Given the description of an element on the screen output the (x, y) to click on. 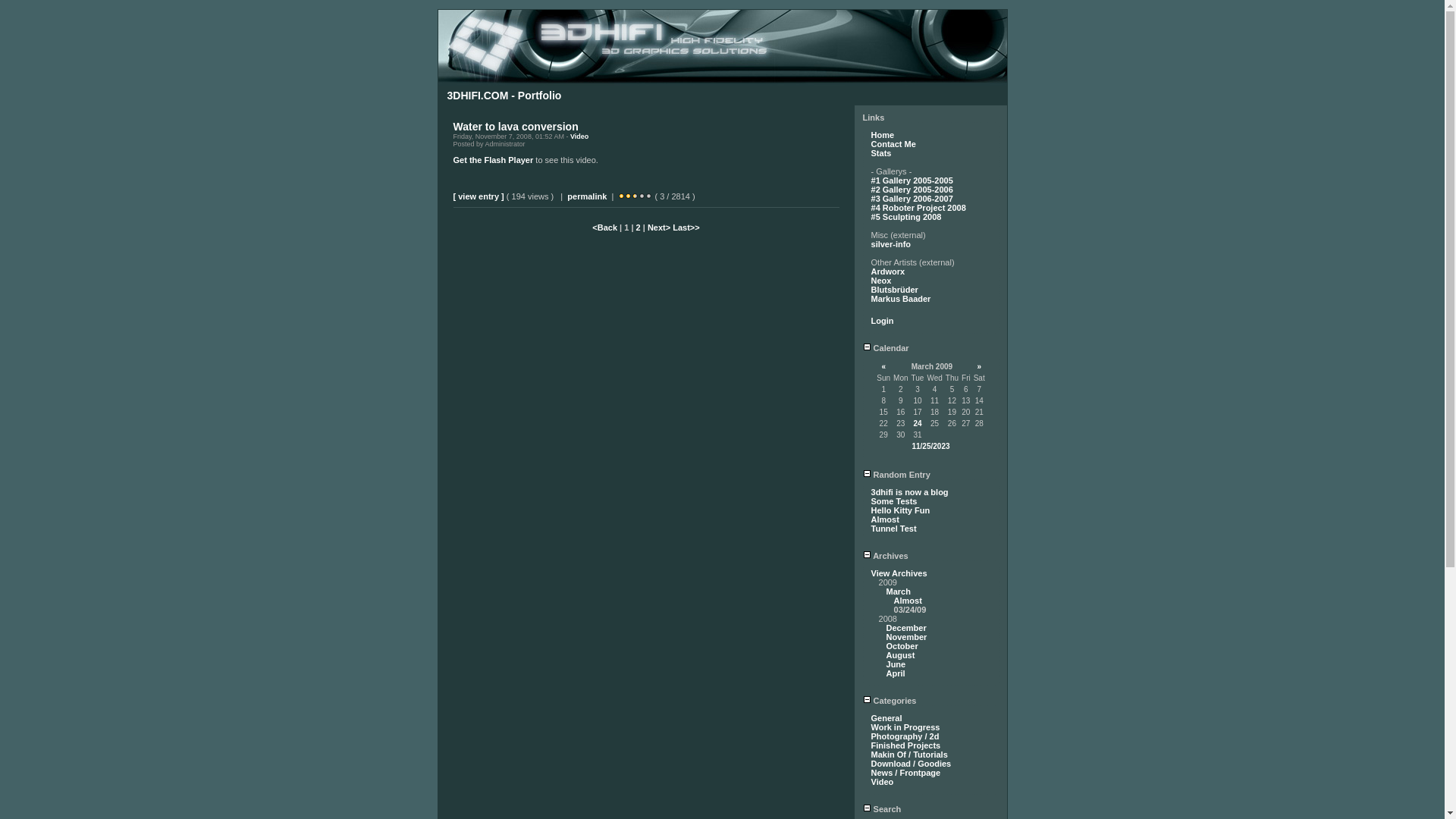
Photography / 2d Element type: text (905, 735)
November Element type: text (906, 636)
Click to Rate Entry Element type: hover (648, 195)
Makin Of / Tutorials Element type: text (909, 754)
Hello Kitty Fun Element type: text (900, 509)
View Archives Element type: text (899, 572)
Download / Goodies Element type: text (911, 763)
#4 Roboter Project 2008 Element type: text (918, 207)
[ view entry ] Element type: text (478, 195)
December Element type: text (906, 627)
#5 Sculpting 2008 Element type: text (906, 216)
Categories Element type: text (889, 700)
Click to Rate Entry Element type: hover (621, 195)
Random Entry Element type: text (896, 474)
August Element type: text (900, 654)
Contact Me Element type: text (893, 143)
Finished Projects Element type: text (906, 744)
Video Element type: text (579, 136)
silver-info Element type: text (891, 243)
24 Element type: text (917, 423)
Next> Element type: text (659, 227)
<Back Element type: text (605, 227)
Tunnel Test Element type: text (893, 528)
April Element type: text (895, 672)
Home Element type: text (882, 134)
Calendar Element type: text (885, 347)
Archives Element type: text (885, 555)
3dhifi is now a blog Element type: text (909, 491)
Some Tests Element type: text (894, 500)
Video Element type: text (882, 781)
  Element type: text (579, 126)
Almost Element type: text (908, 600)
Click to Rate Entry Element type: hover (634, 195)
#1 Gallery 2005-2005 Element type: text (912, 180)
October Element type: text (902, 645)
Markus Baader Element type: text (901, 298)
Get the Flash Player Element type: text (493, 159)
Login Element type: text (882, 320)
permalink Element type: text (586, 195)
News / Frontpage Element type: text (906, 772)
#2 Gallery 2005-2006 Element type: text (912, 189)
June Element type: text (896, 663)
#3 Gallery 2006-2007 Element type: text (912, 198)
Last>> Element type: text (685, 227)
11/25/2023 Element type: text (930, 446)
Click to Rate Entry Element type: hover (641, 195)
Almost Element type: text (885, 519)
Click to Rate Entry Element type: hover (627, 195)
2 Element type: text (638, 227)
Stats Element type: text (881, 152)
Ardworx Element type: text (888, 271)
March Element type: text (898, 591)
Work in Progress Element type: text (905, 726)
General Element type: text (886, 717)
Neox Element type: text (881, 280)
Search Element type: text (881, 808)
